Given the description of an element on the screen output the (x, y) to click on. 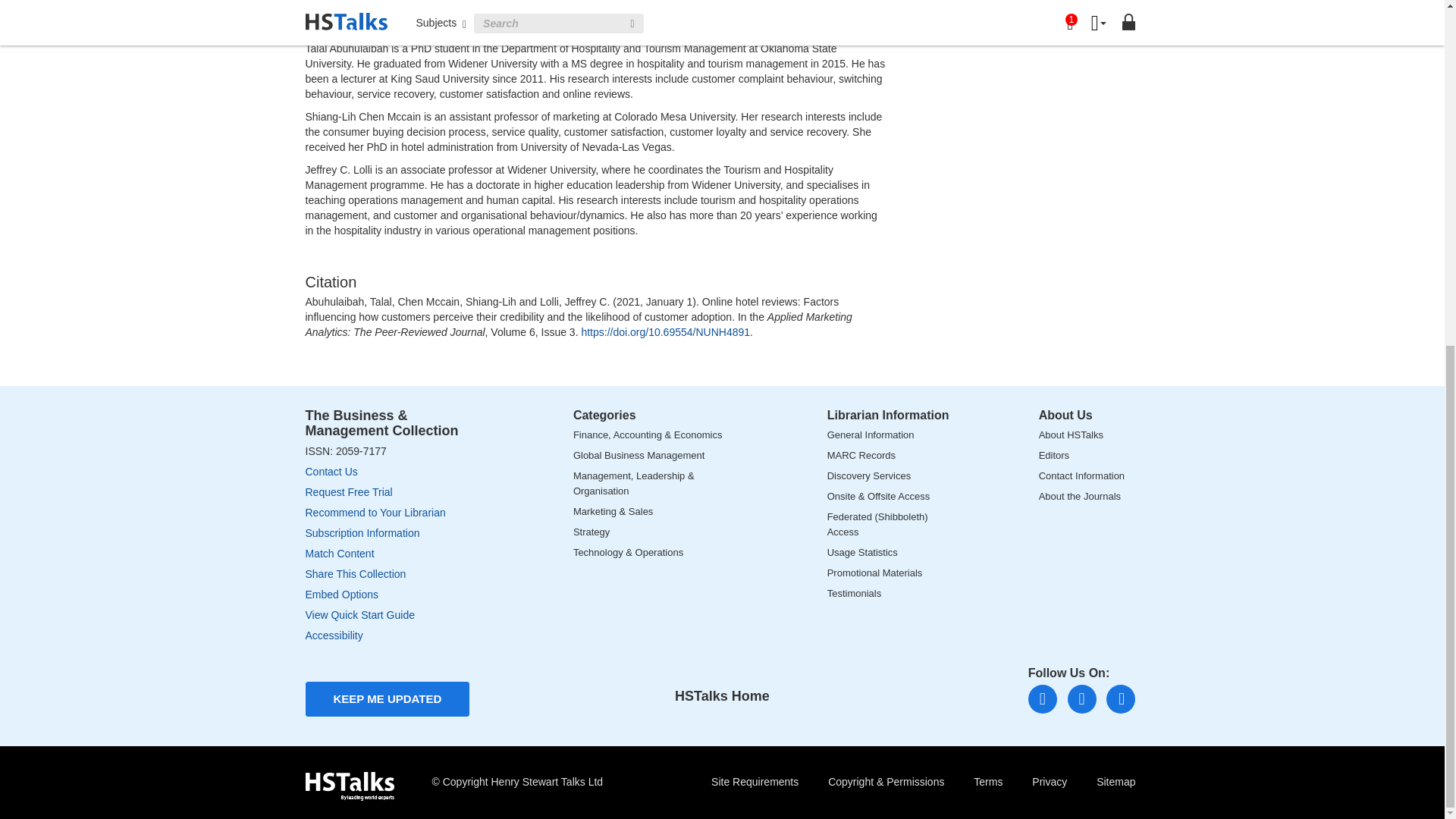
Open RSS Feed (1120, 698)
Follow us on X (1081, 698)
Follow us on LinkedIn (1042, 698)
